Given the description of an element on the screen output the (x, y) to click on. 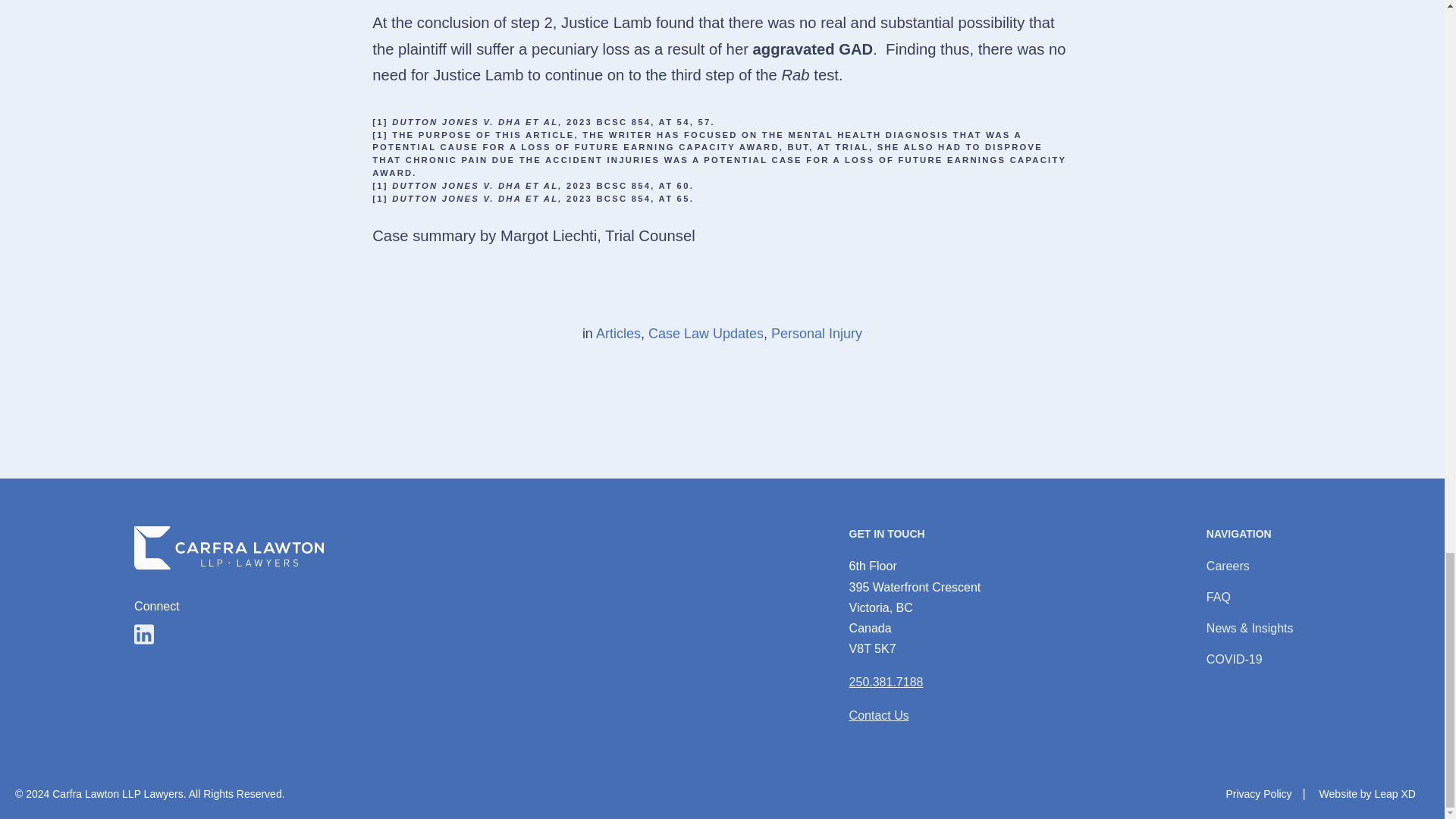
FAQ (1218, 596)
COVID-19 (1234, 658)
Case Law Updates (704, 333)
Contact Us (878, 715)
LinkedIn icon (143, 634)
Website by Leap XD (143, 634)
250.381.7188 (1367, 793)
Privacy Policy (885, 681)
Articles (1258, 793)
